Given the description of an element on the screen output the (x, y) to click on. 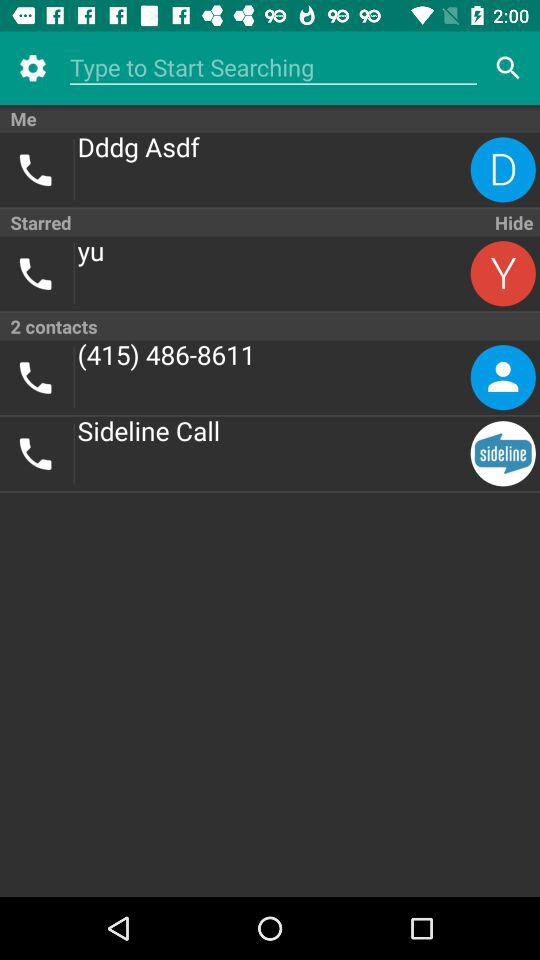
search bar (273, 67)
